Given the description of an element on the screen output the (x, y) to click on. 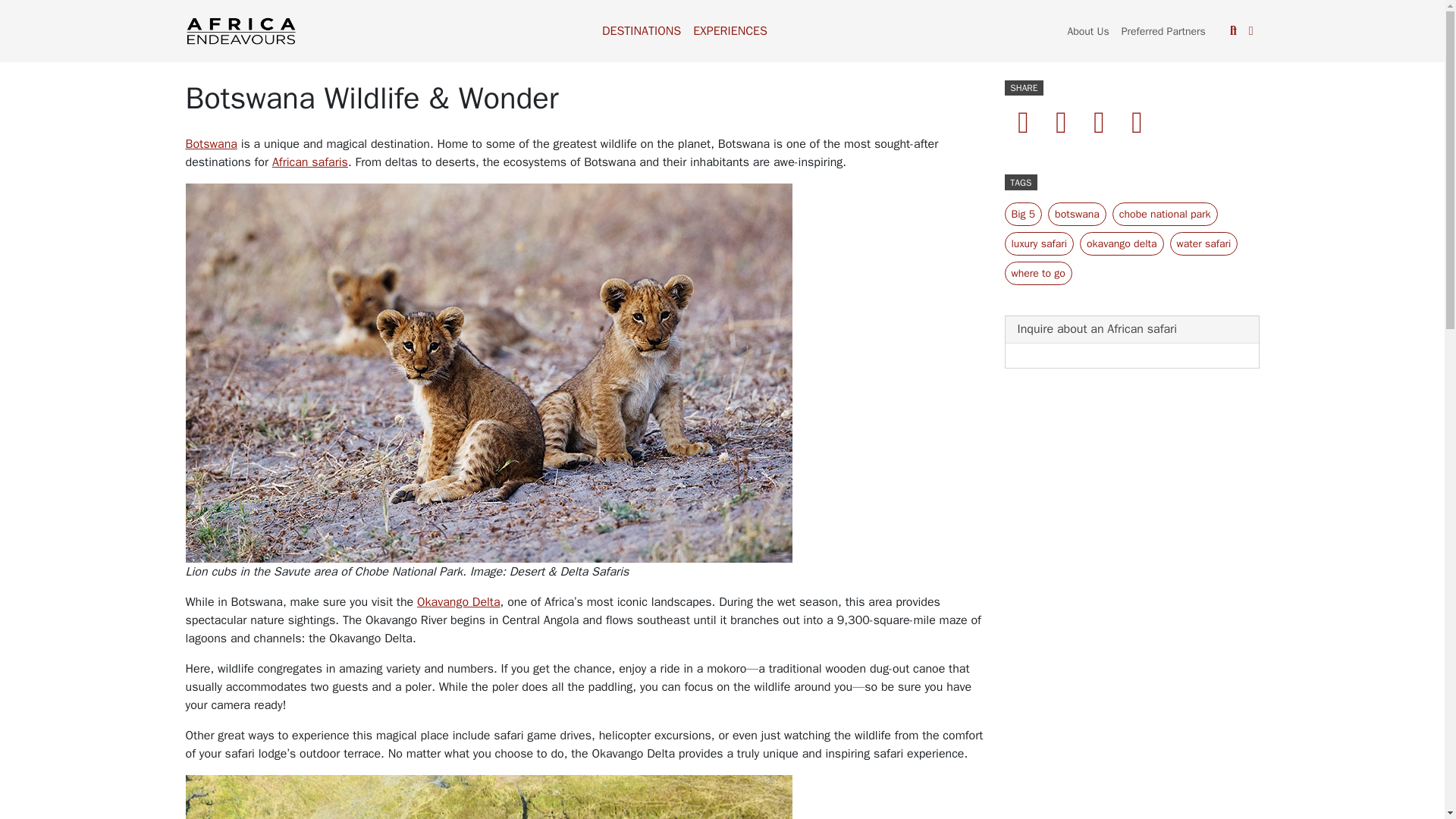
Africa Endeavours (239, 30)
About Us (1088, 30)
Destinations (641, 30)
DESTINATIONS (641, 30)
EXPERIENCES (730, 30)
